Given the description of an element on the screen output the (x, y) to click on. 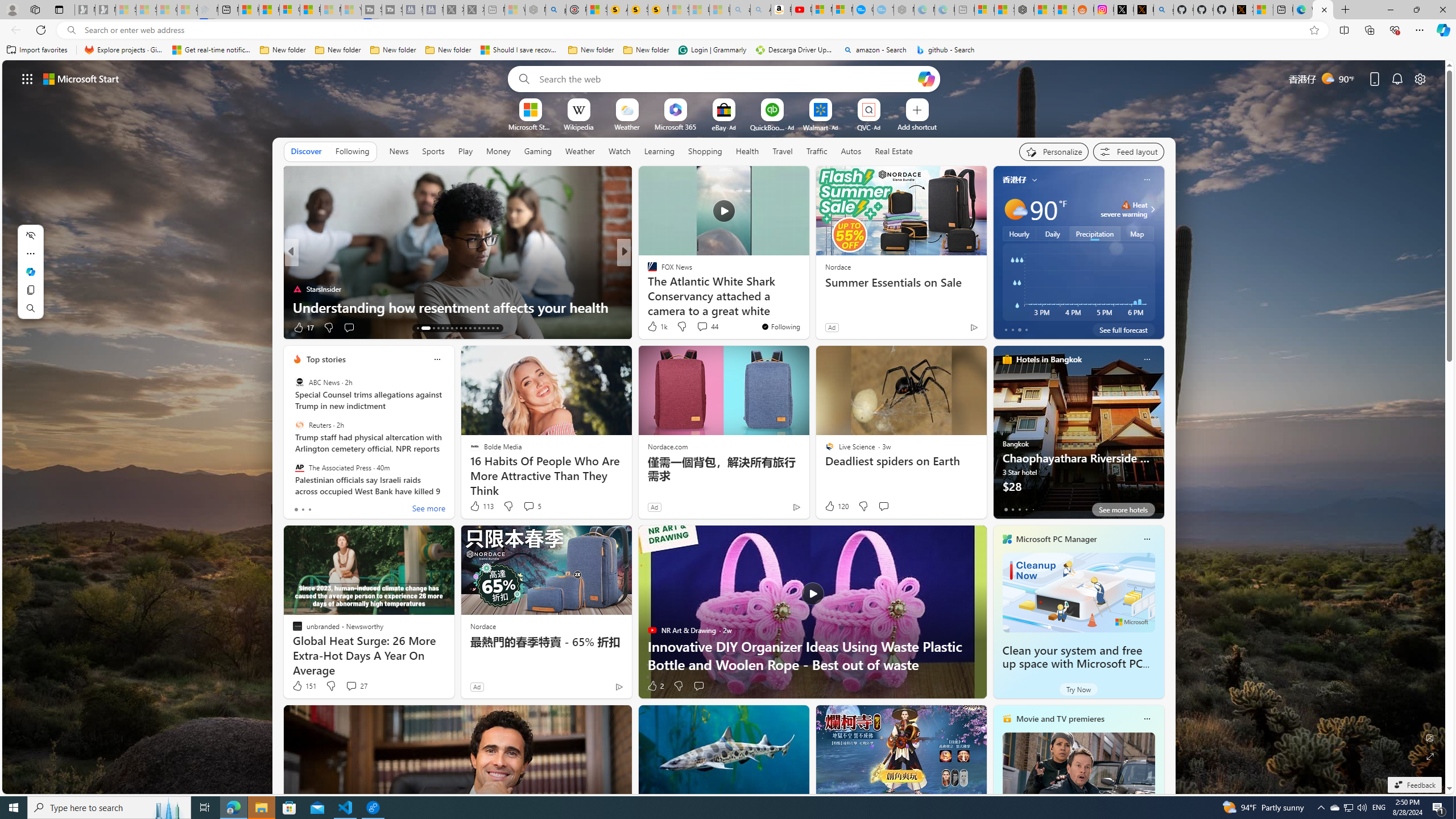
AutomationID: tab-28 (492, 328)
AutomationID: tab-13 (417, 328)
Mostly sunny (1014, 208)
amazon - Search - Sleeping (740, 9)
View comments 27 Comment (350, 685)
Sports (432, 151)
Inc. (647, 270)
Health (746, 151)
